Given the description of an element on the screen output the (x, y) to click on. 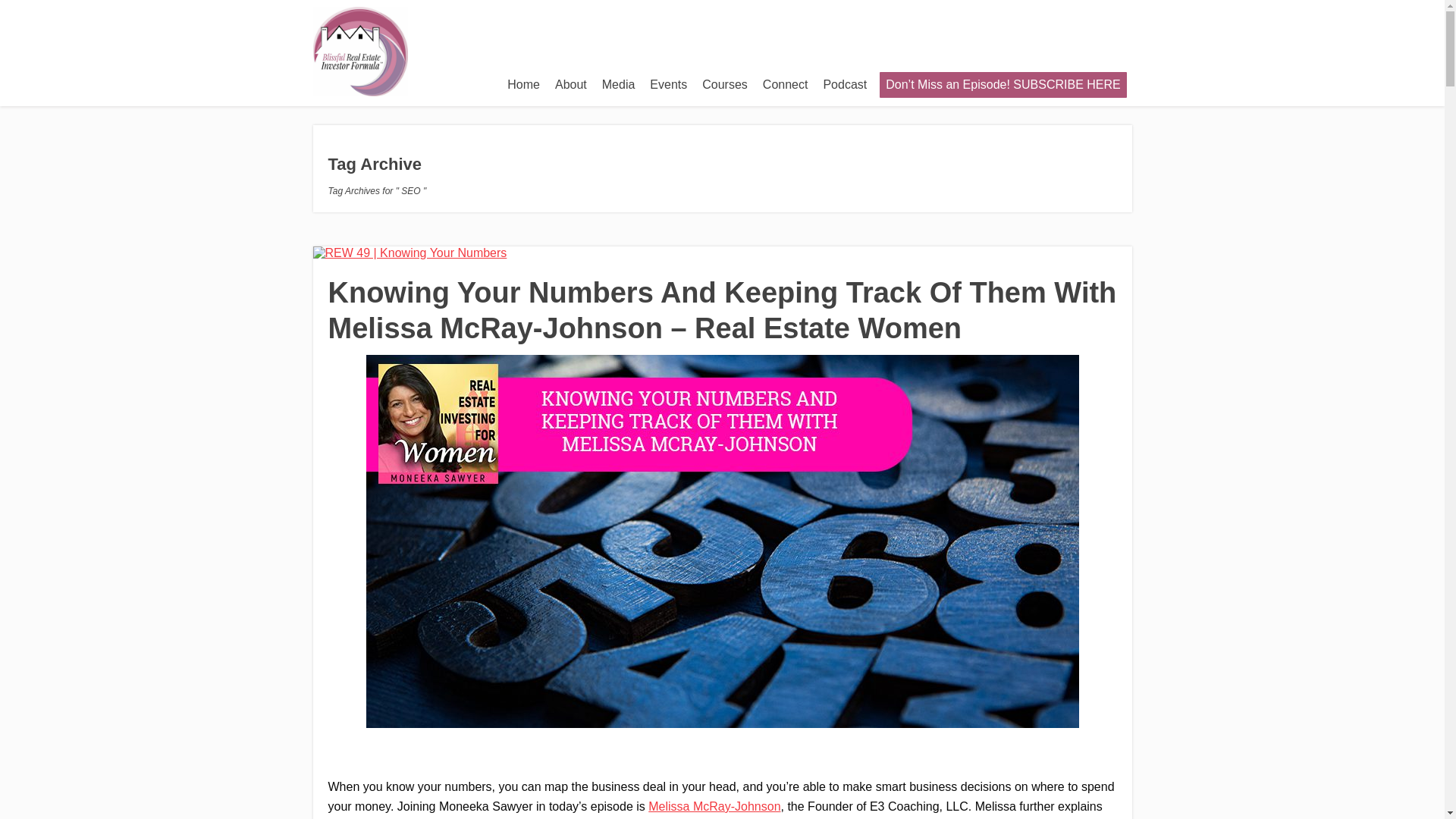
Courses (724, 84)
Events (668, 84)
Home (523, 84)
Media (618, 84)
Connect (785, 84)
Melissa McRay-Johnson (713, 806)
About (570, 84)
Podcast (845, 84)
